Given the description of an element on the screen output the (x, y) to click on. 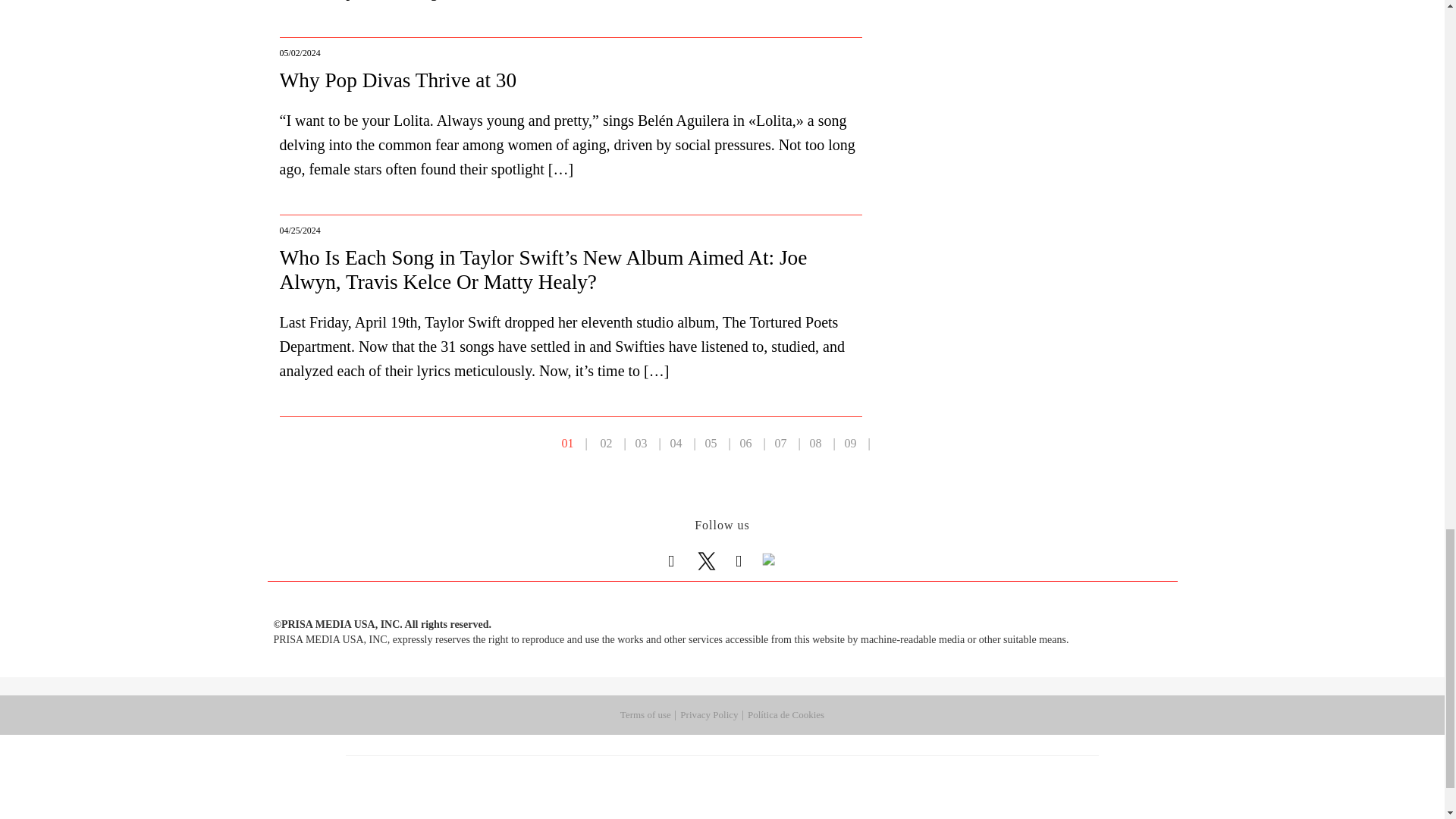
Ir a la web de Santillana Compartir (772, 776)
Ir a la web de AS (885, 776)
Ir a la web de Planeta futuro (923, 799)
01 (566, 442)
02 (605, 442)
Ir a la web de Cadena SER (837, 776)
Ir a la web de Caracol (991, 776)
Ir a la web de Cadena Dial (812, 799)
Ir a la web de Sistema UNO (652, 799)
Ir a la web de Kebuena (978, 799)
